Given the description of an element on the screen output the (x, y) to click on. 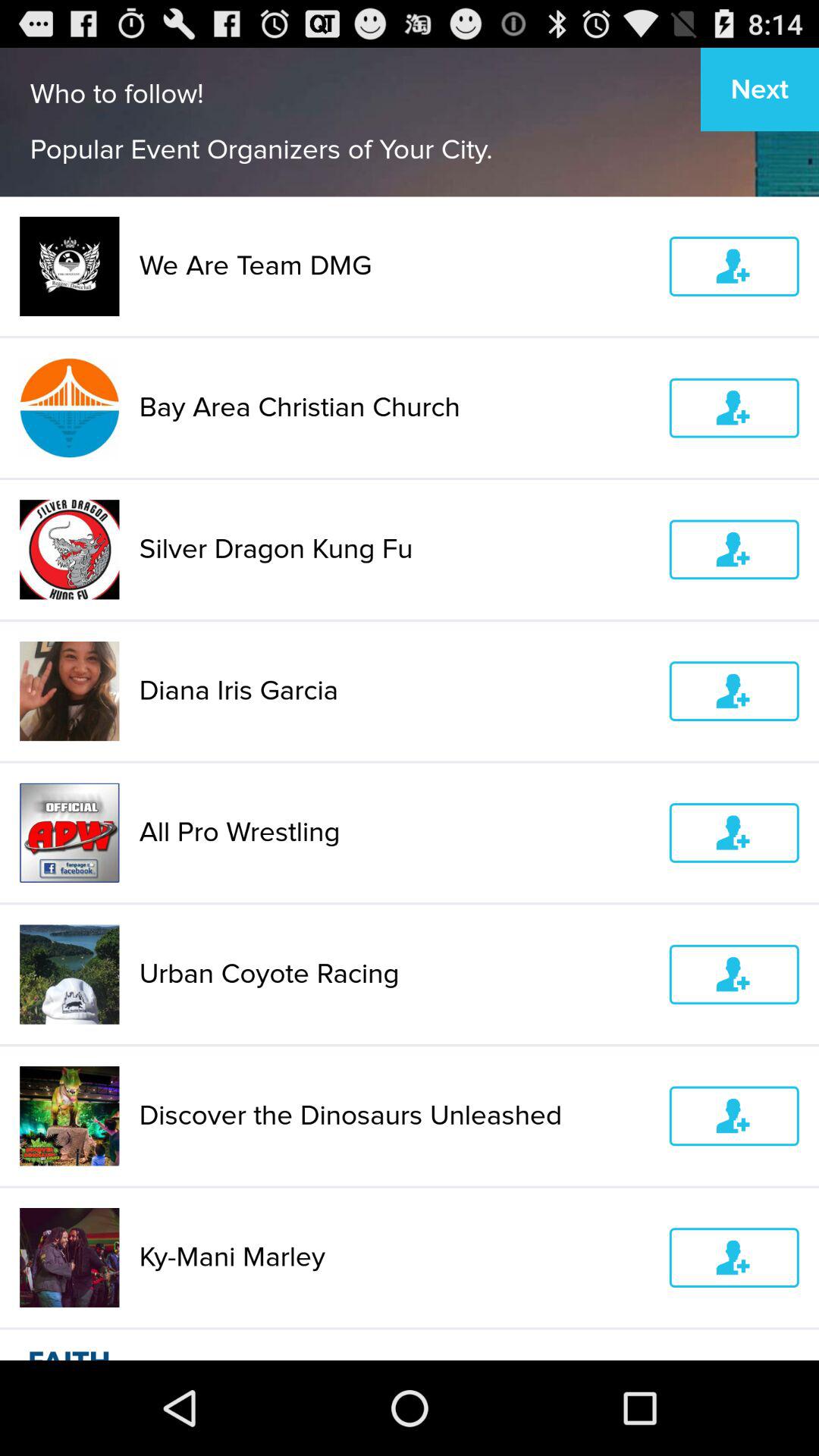
scroll to diana iris garcia icon (394, 690)
